Given the description of an element on the screen output the (x, y) to click on. 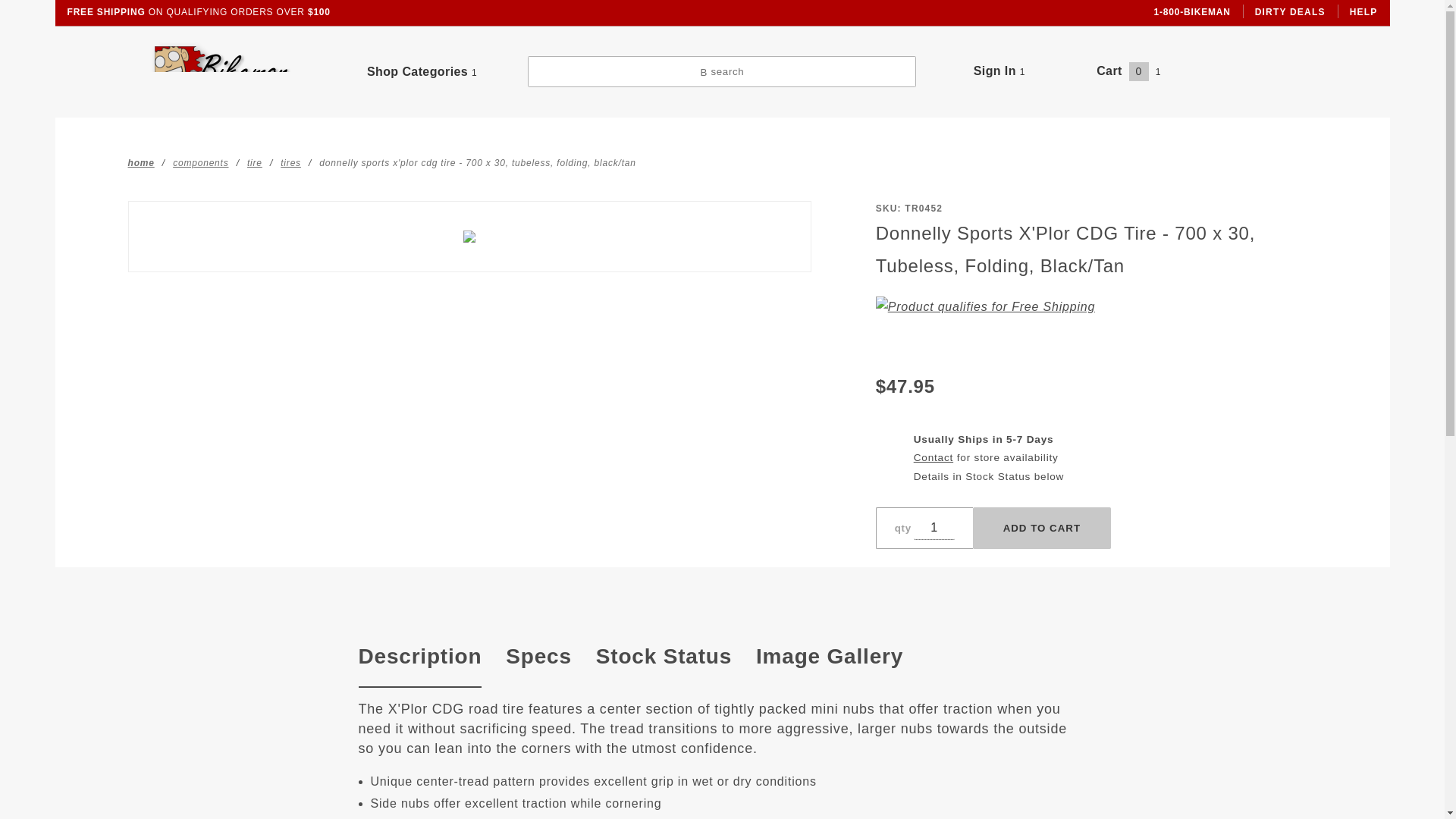
Tire (254, 162)
Home (141, 162)
Add To Cart (1041, 527)
Shop Categories (422, 71)
PRESS ENTER (1213, 25)
Tires (291, 162)
CLOSE (1239, 9)
Bikeman (220, 70)
DIRTY DEALS (1290, 12)
Dirty Deals (1290, 12)
Components (200, 162)
Help (1364, 12)
Sign In (1192, 126)
Cart 0 (1128, 70)
Sign In (999, 70)
